Given the description of an element on the screen output the (x, y) to click on. 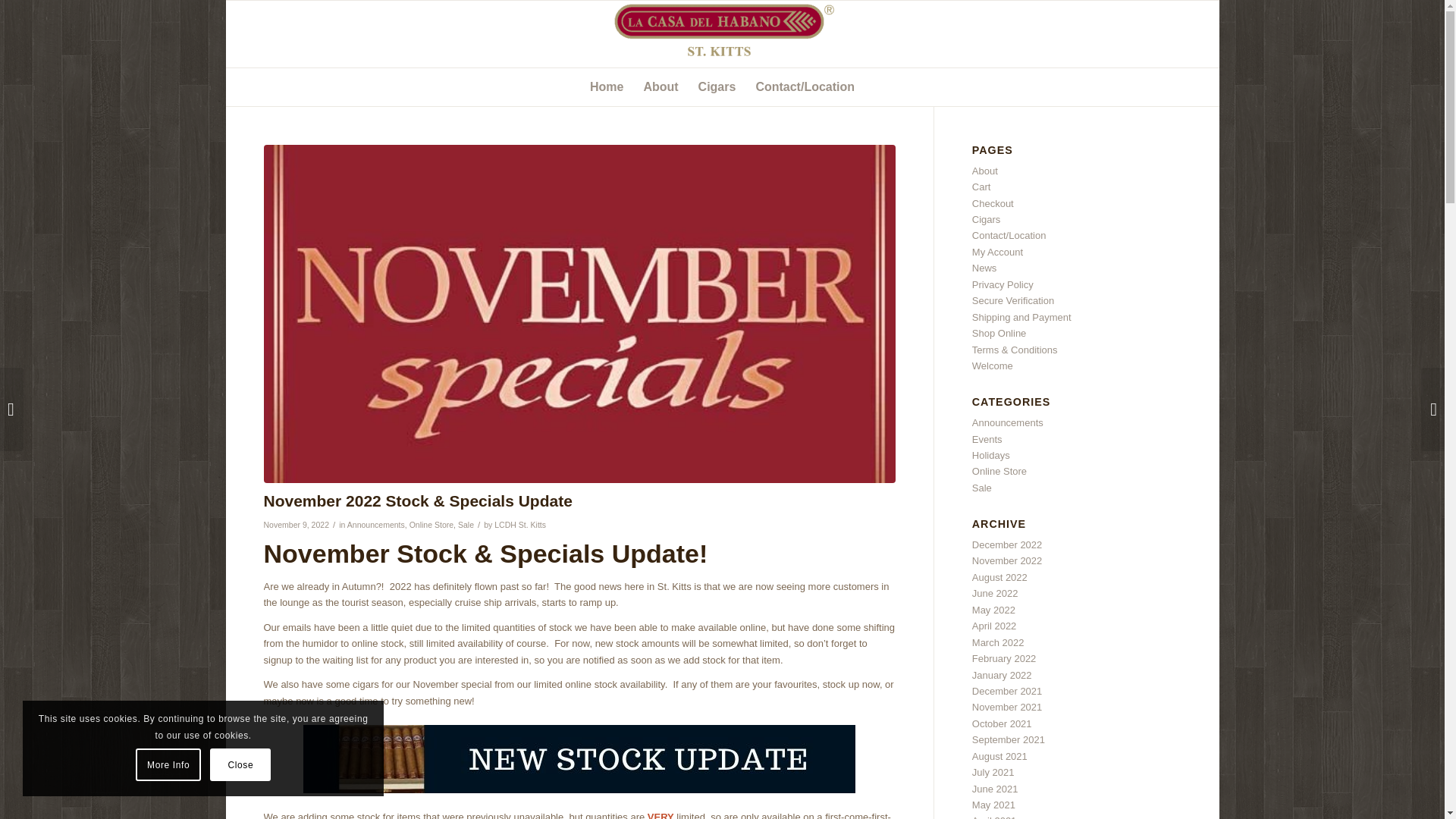
Online Store (430, 524)
Posts by LCDH St. Kitts (520, 524)
Sale (466, 524)
About (660, 86)
Announcements (375, 524)
Home (606, 86)
Cigars (716, 86)
LCDH St. Kitts (520, 524)
